Given the description of an element on the screen output the (x, y) to click on. 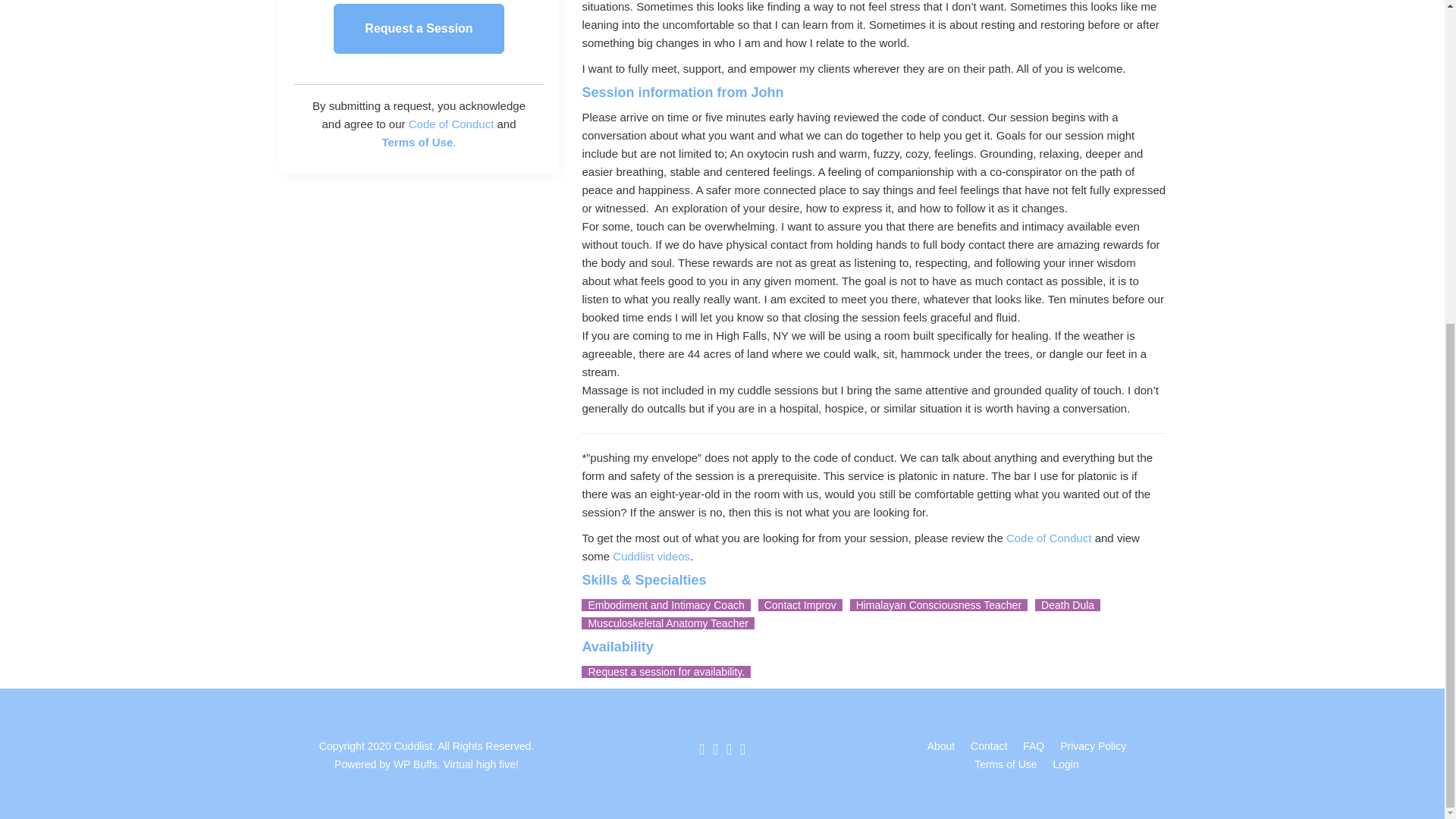
About (941, 746)
Terms of Use. (418, 141)
FAQ (1033, 746)
Contact (989, 746)
Privacy Policy (1092, 746)
Code of Conduct (452, 123)
Code of Conduct (1049, 537)
Request a Session (418, 29)
WP Buffs (414, 764)
Cuddlist videos (651, 555)
